Given the description of an element on the screen output the (x, y) to click on. 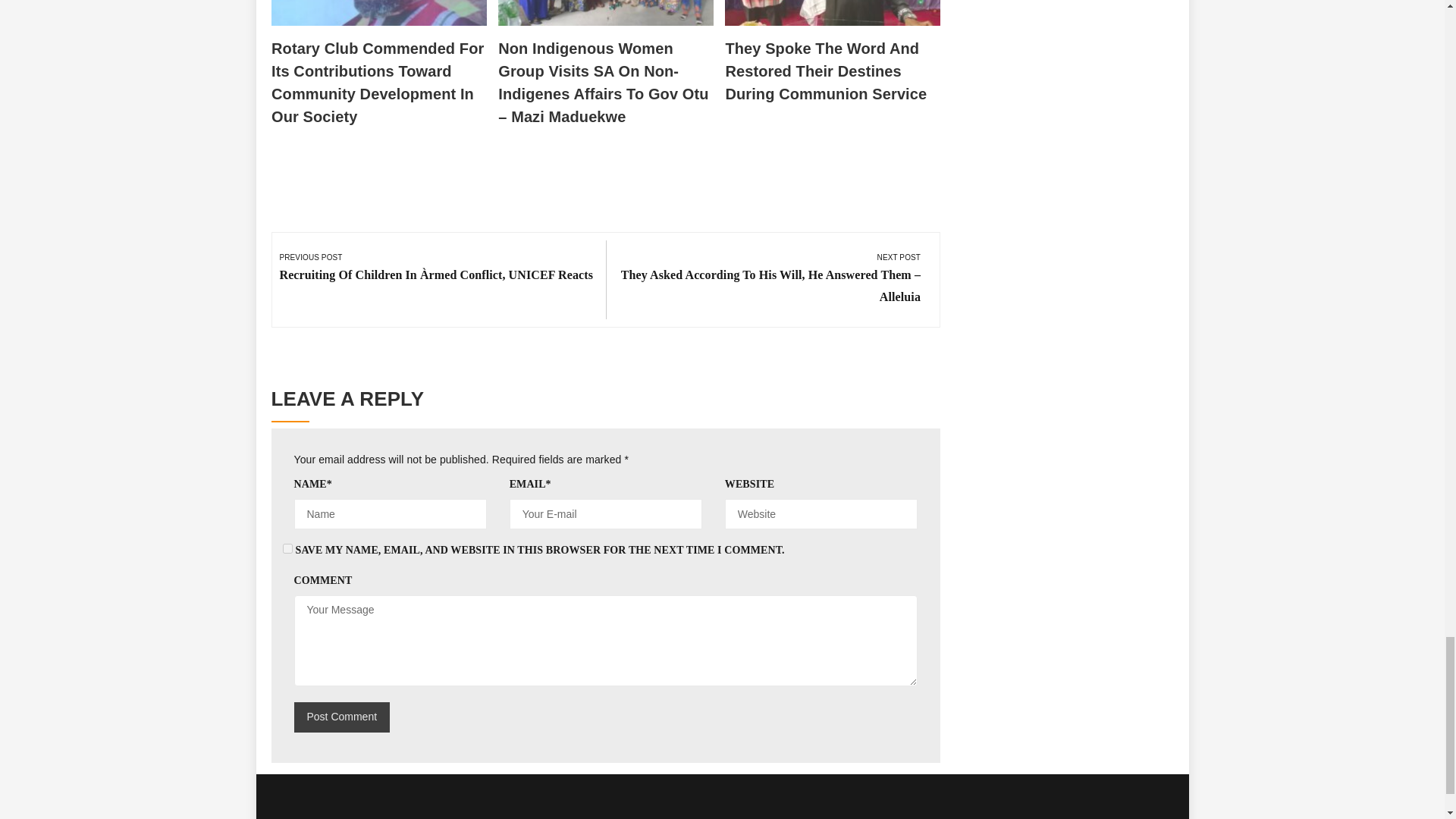
Post Comment (342, 716)
yes (287, 548)
